Given the description of an element on the screen output the (x, y) to click on. 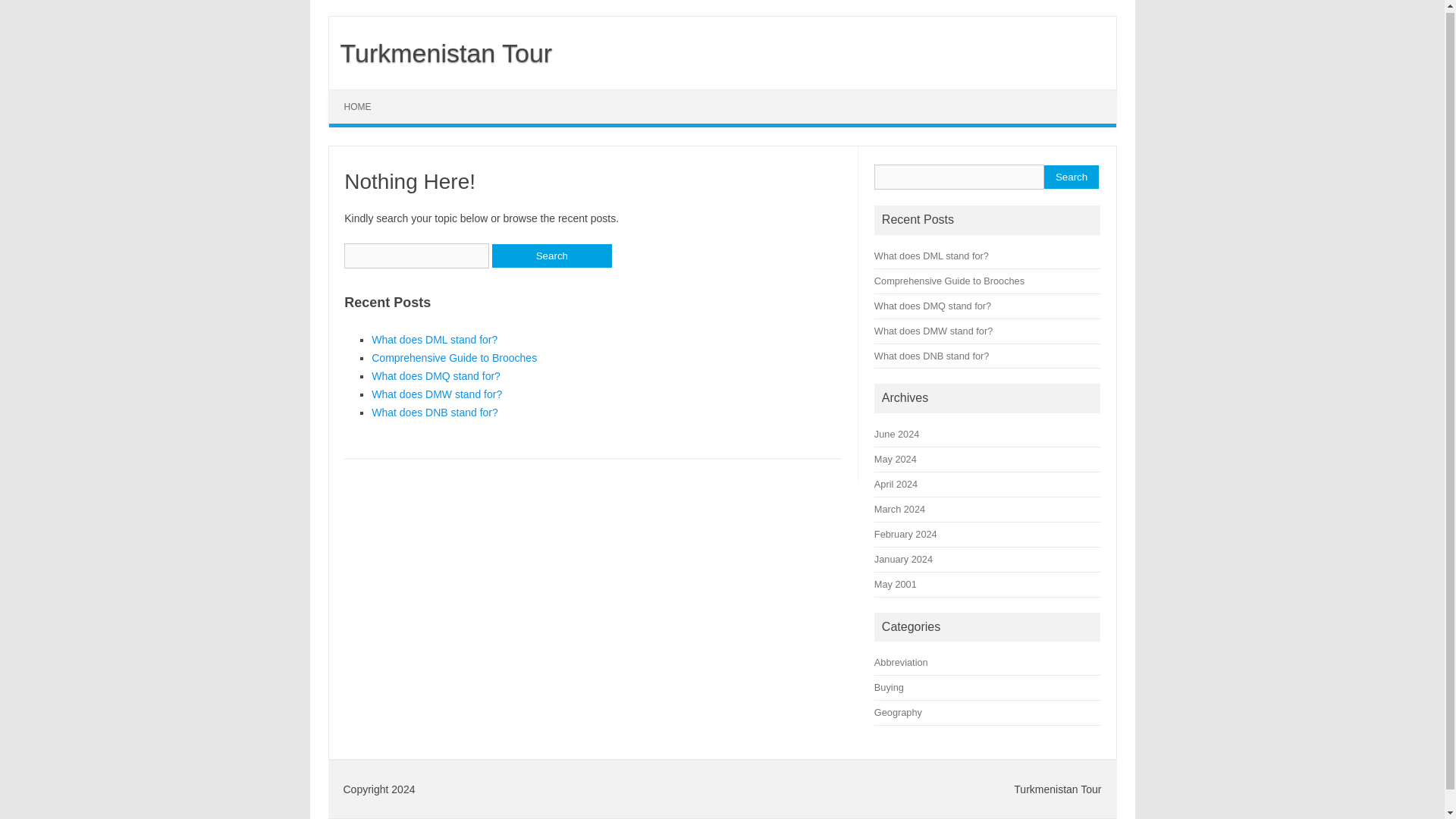
Abbreviation (901, 662)
HOME (358, 106)
April 2024 (896, 483)
January 2024 (904, 559)
What does DML stand for? (434, 339)
Comprehensive Guide to Brooches (454, 357)
What does DNB stand for? (931, 355)
May 2024 (896, 459)
Skip to content (363, 94)
What does DMQ stand for? (435, 376)
May 2001 (896, 583)
What does DMW stand for? (933, 330)
What does DML stand for? (931, 255)
Geography (898, 712)
Search (1070, 177)
